Given the description of an element on the screen output the (x, y) to click on. 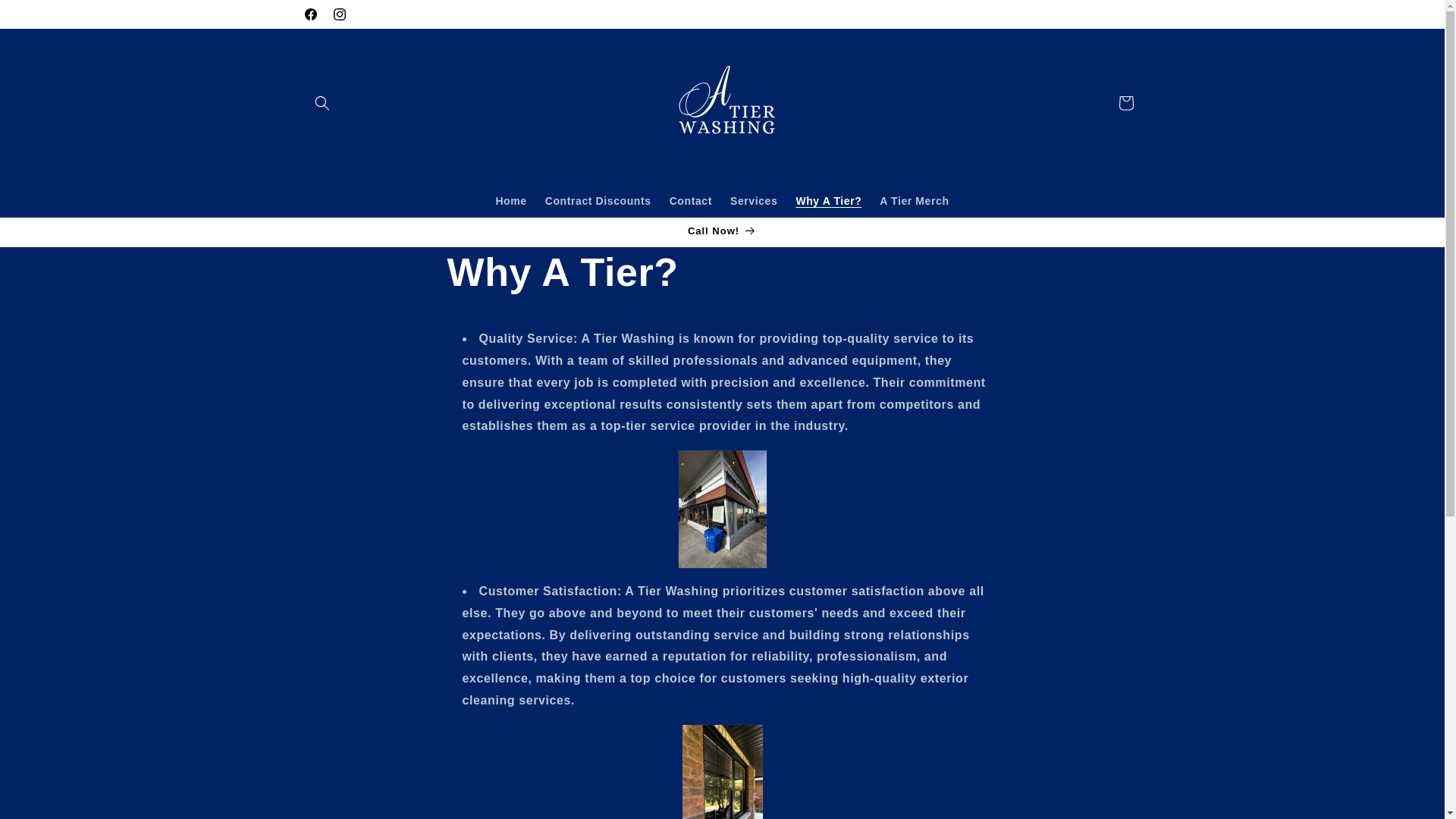
Why A Tier? (828, 201)
Skip to content (45, 17)
Services (753, 201)
Contract Discounts (598, 201)
Contact (690, 201)
Home (510, 201)
Call Now! (721, 231)
Facebook (309, 14)
A Tier Merch (914, 201)
Cart (1124, 102)
Instagram (338, 14)
